Given the description of an element on the screen output the (x, y) to click on. 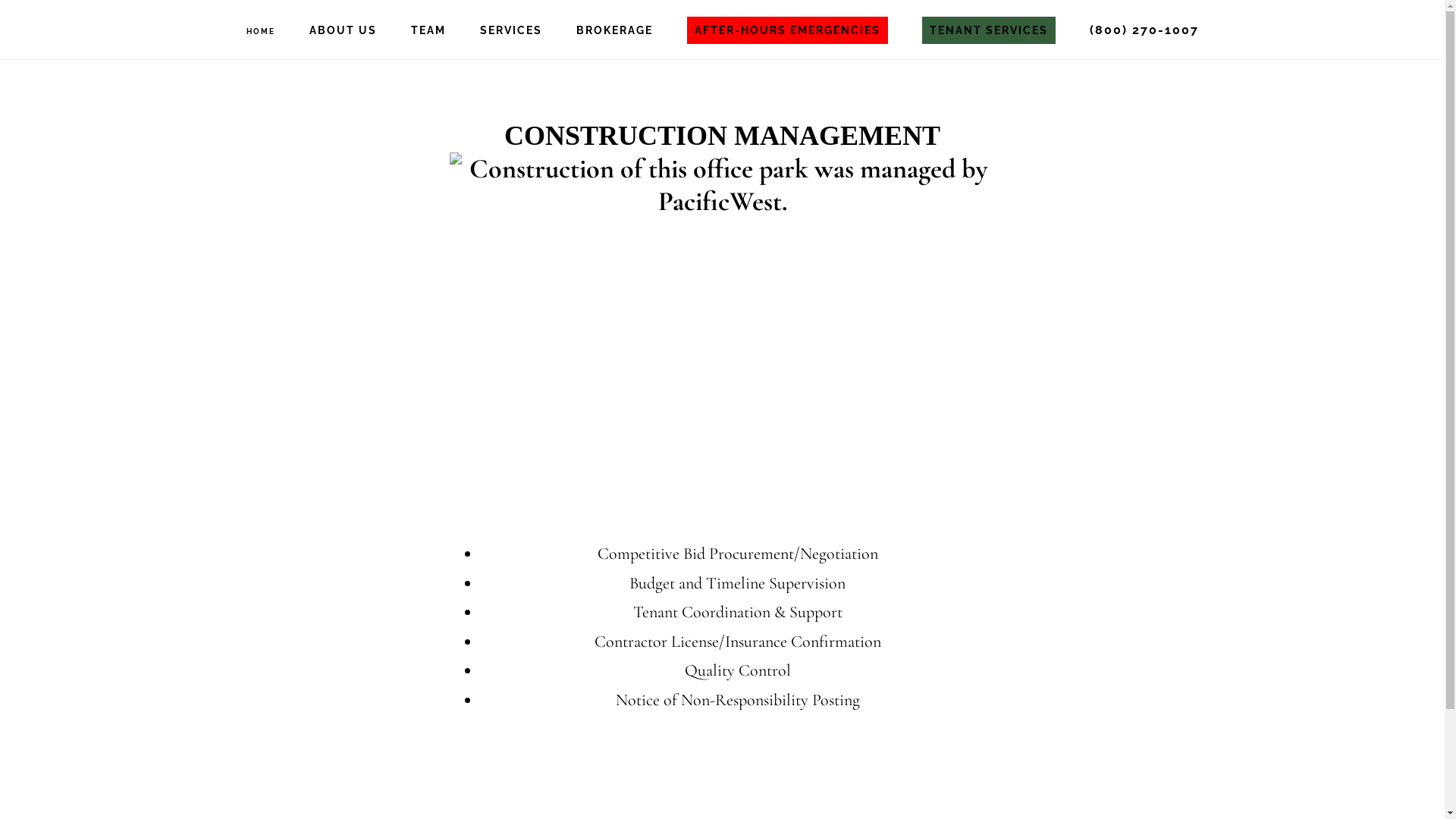
ABOUT US Element type: text (343, 30)
AFTER-HOURS EMERGENCIES Element type: text (787, 30)
TENANT SERVICES Element type: text (988, 30)
BROKERAGE Element type: text (614, 30)
SERVICES Element type: text (510, 30)
Skip to primary navigation Element type: text (0, 0)
TEAM Element type: text (428, 30)
(800) 270-1007 Element type: text (1143, 30)
HOME Element type: text (259, 31)
